Given the description of an element on the screen output the (x, y) to click on. 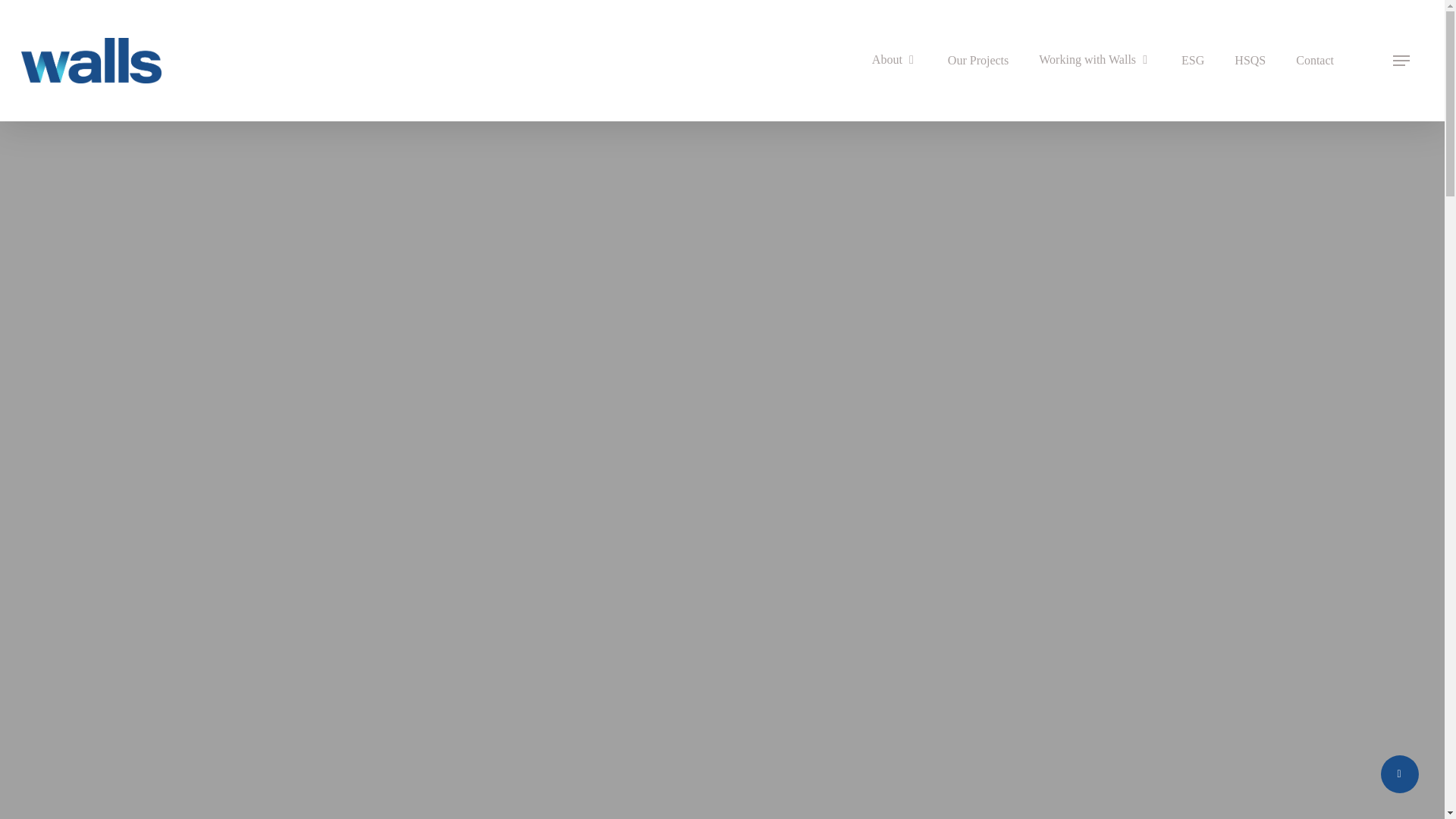
HSQS (1250, 60)
Our Projects (978, 60)
Working with Walls (1094, 60)
ESG (1193, 60)
Menu (1400, 60)
Contact (1315, 60)
About (895, 60)
